Given the description of an element on the screen output the (x, y) to click on. 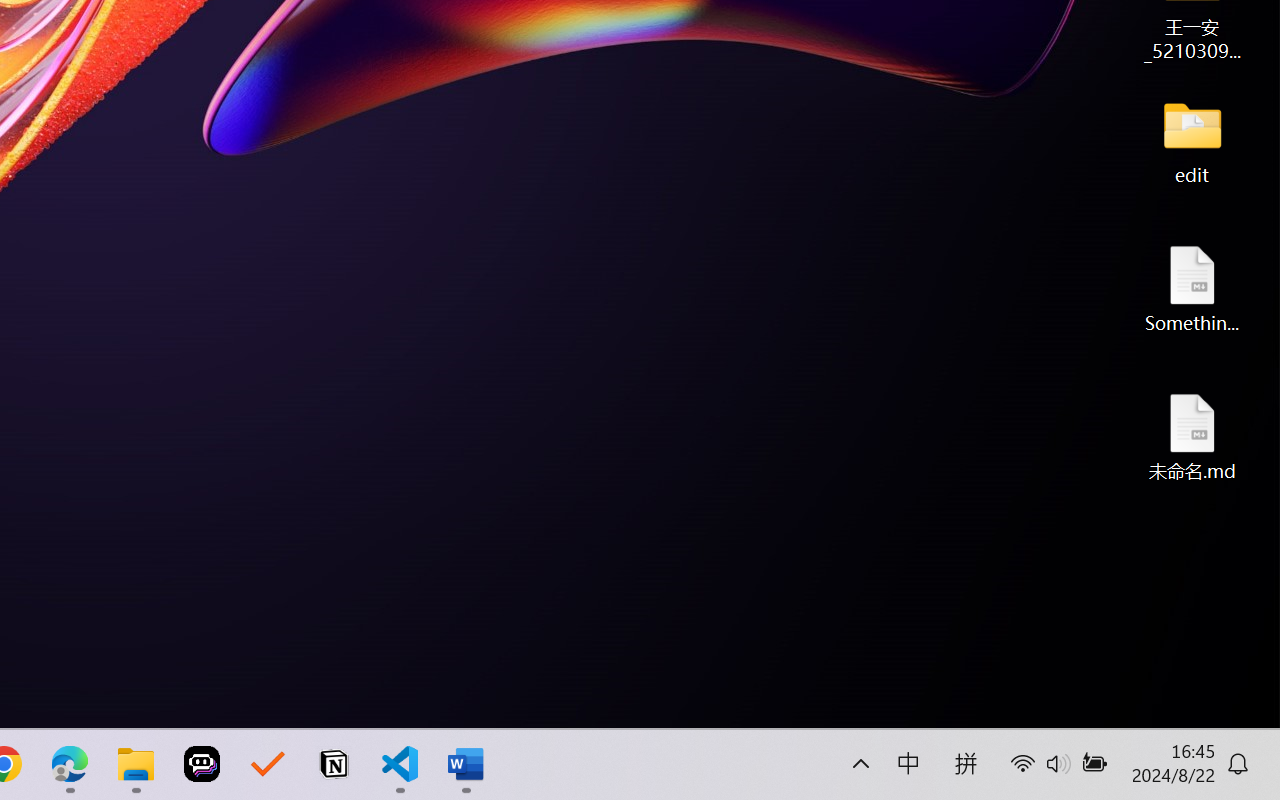
Something.md (1192, 288)
